Given the description of an element on the screen output the (x, y) to click on. 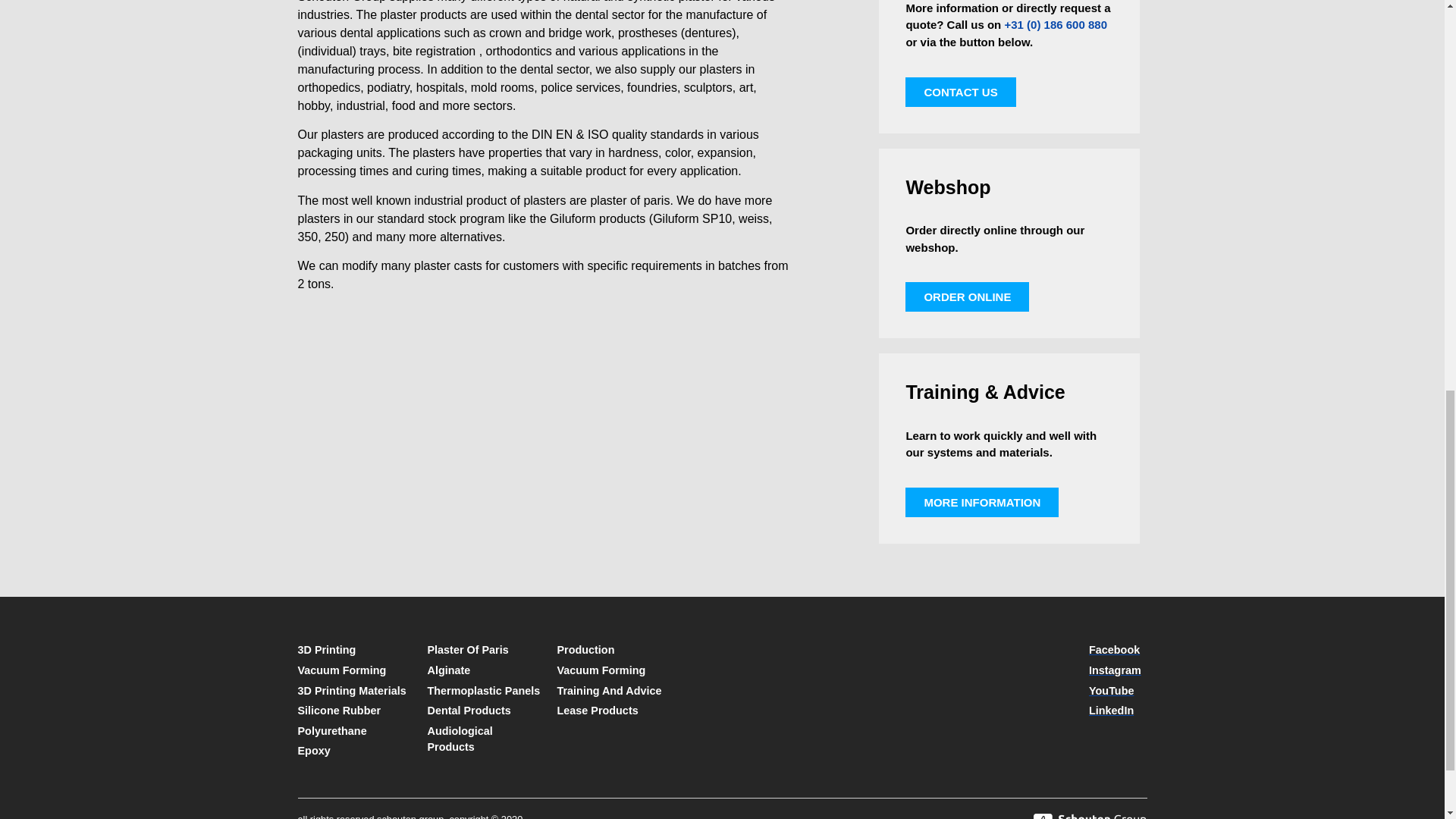
3D Printing Materials (354, 691)
Polyurethane (354, 731)
3D Printing (354, 650)
CONTACT US (959, 91)
MORE INFORMATION (981, 501)
Plaster Of Paris (484, 650)
Epoxy (354, 751)
Vacuum Forming (354, 670)
ORDER ONLINE (967, 296)
Alginate (484, 670)
Silicone Rubber (354, 710)
